Given the description of an element on the screen output the (x, y) to click on. 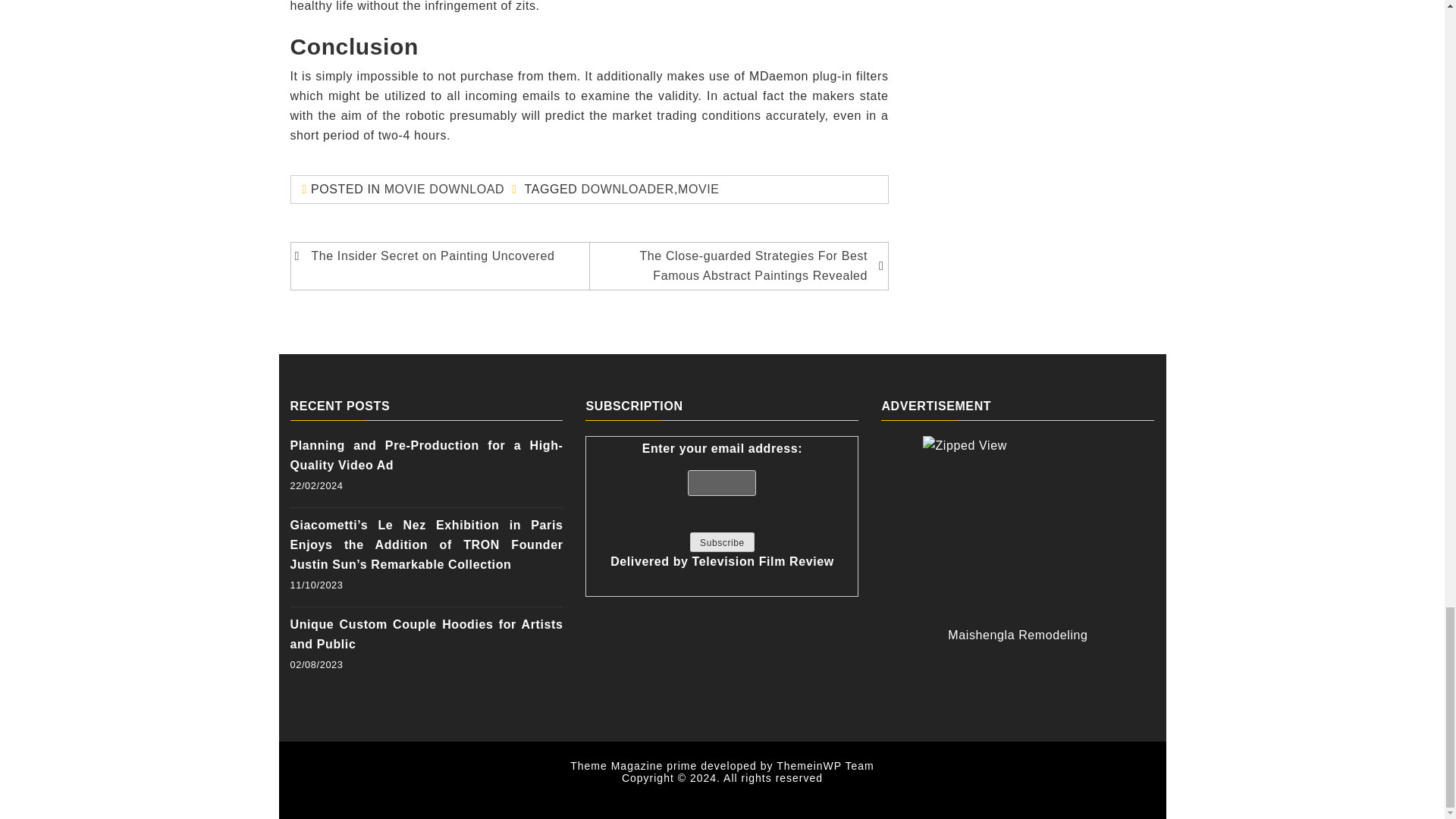
The Insider Secret on Painting Uncovered (442, 256)
DOWNLOADER (627, 188)
MOVIE DOWNLOAD (444, 188)
MOVIE (698, 188)
Subscribe (722, 542)
Zipped View (1017, 530)
